Given the description of an element on the screen output the (x, y) to click on. 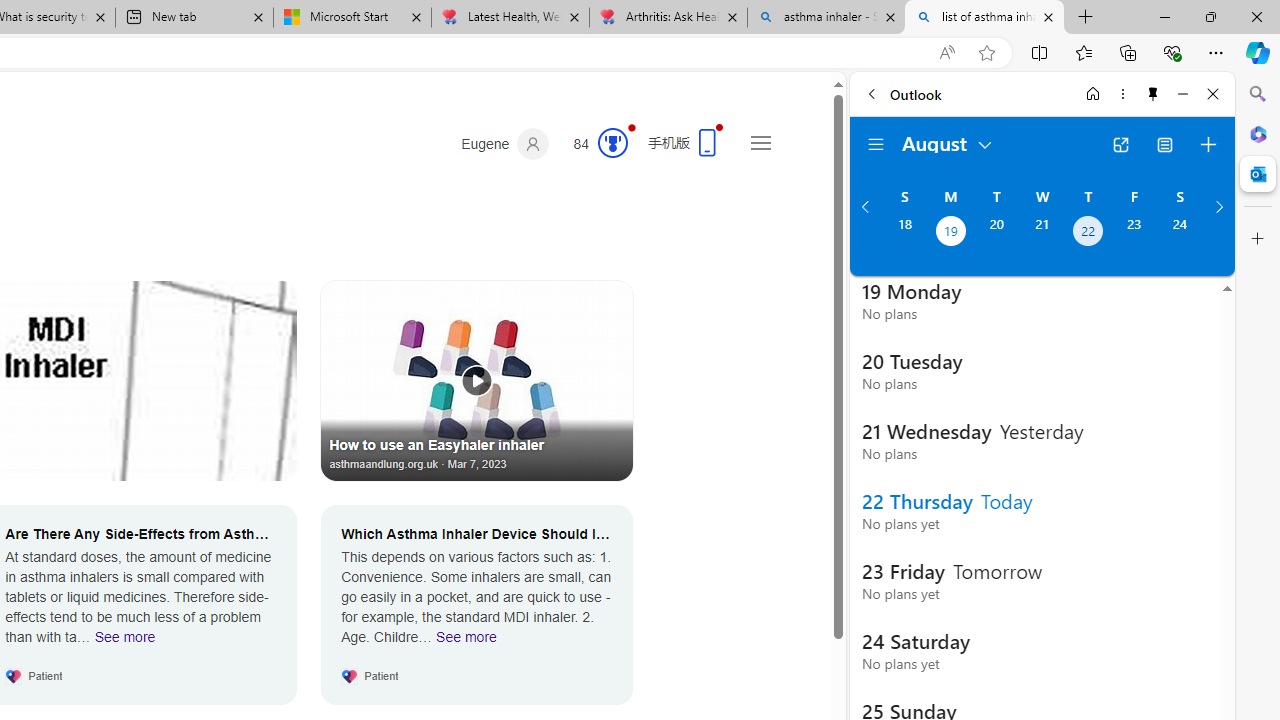
Eugene (505, 143)
Tuesday, August 20, 2024.  (996, 233)
AutomationID: rh_meter (612, 142)
August (948, 141)
Friday, August 23, 2024.  (1134, 233)
AutomationID: serp_medal_svg (612, 142)
